Given the description of an element on the screen output the (x, y) to click on. 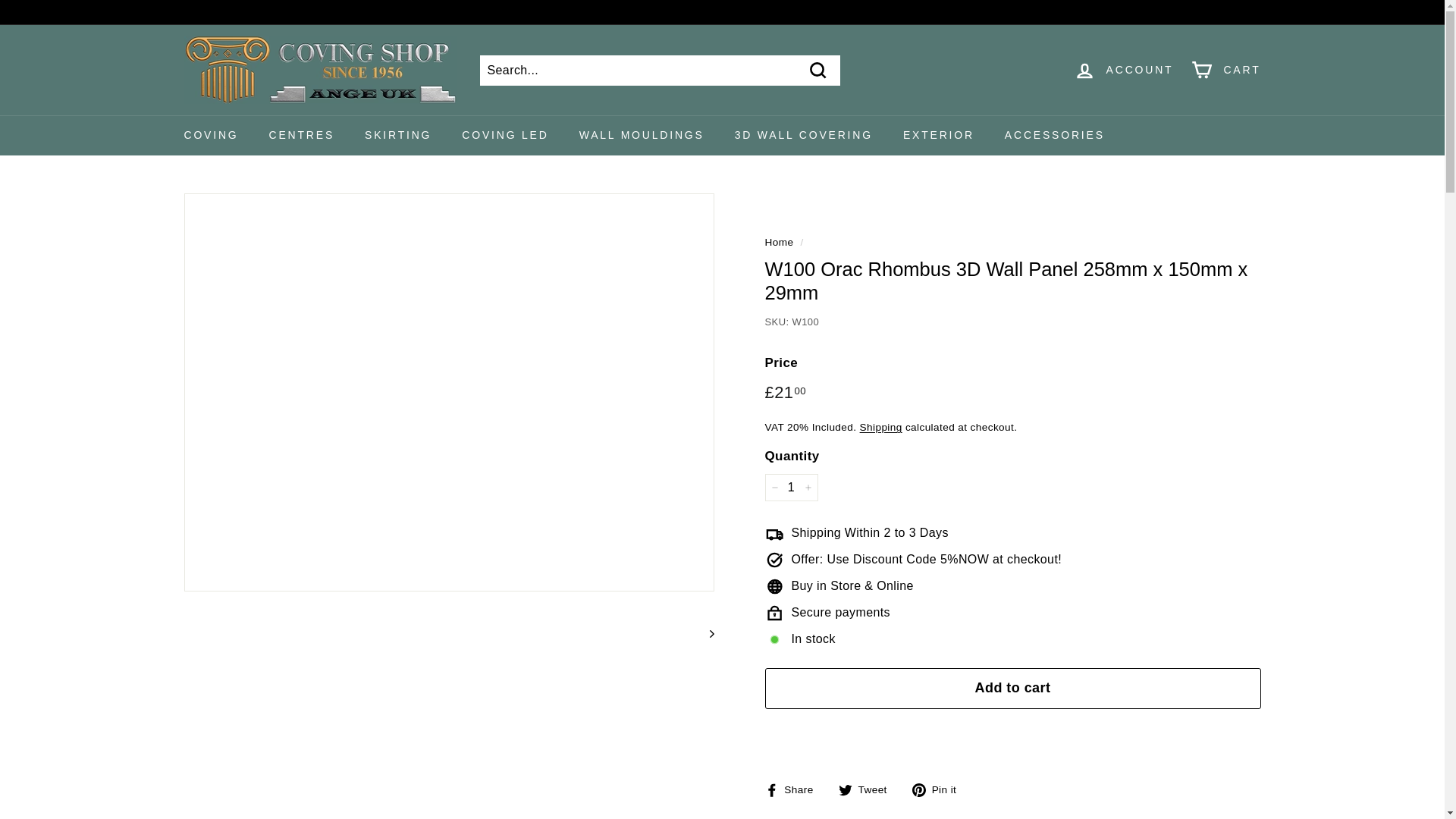
Tweet on Twitter (868, 789)
Pin on Pinterest (940, 789)
ACCOUNT (1123, 69)
WALL MOULDINGS (641, 135)
Back to the frontpage (778, 242)
CENTRES (301, 135)
COVING (210, 135)
COVING LED (504, 135)
1 (790, 487)
EXTERIOR (939, 135)
SKIRTING (397, 135)
Share on Facebook (794, 789)
3D WALL COVERING (803, 135)
ACCESSORIES (1054, 135)
